Given the description of an element on the screen output the (x, y) to click on. 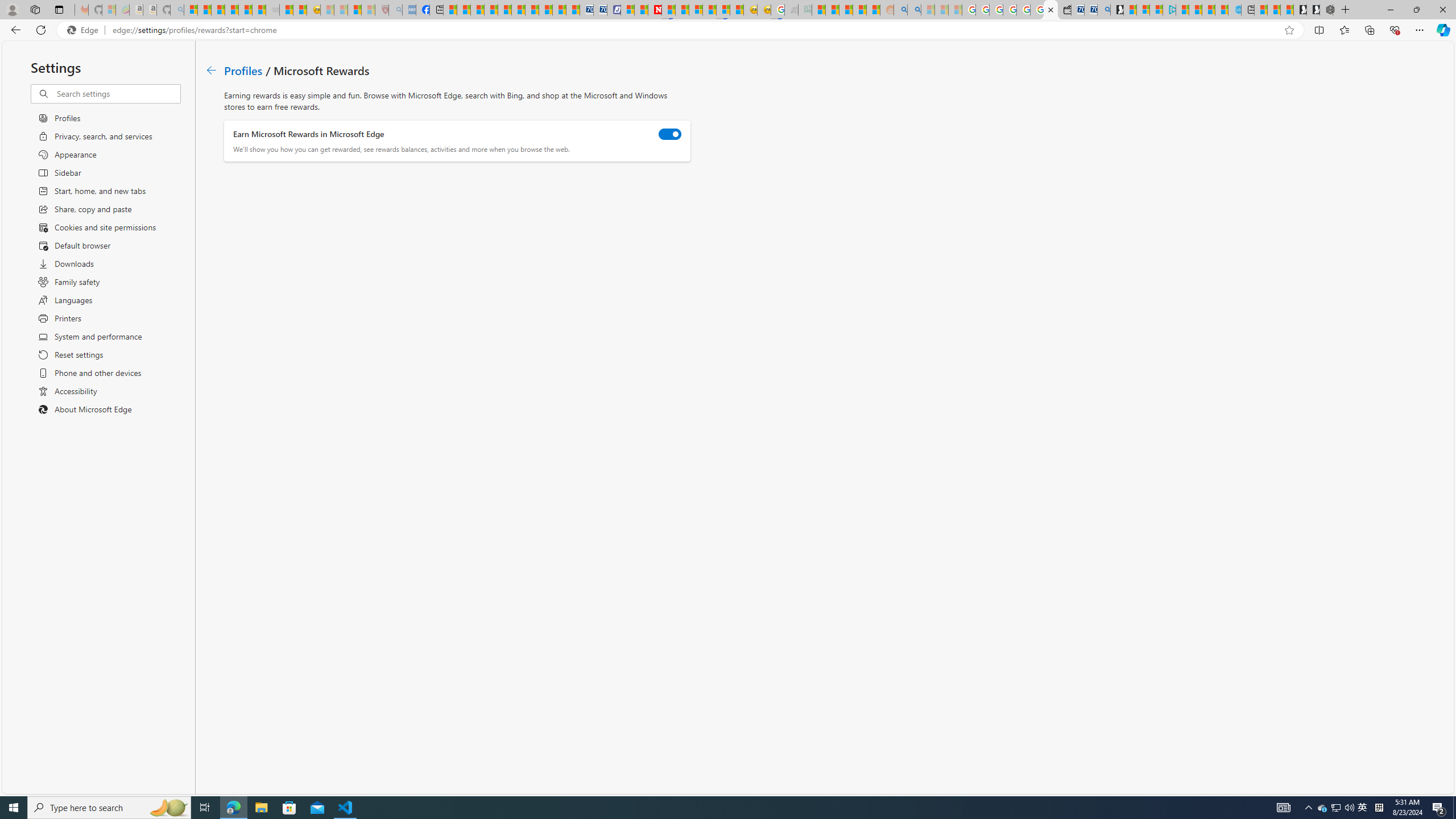
Profiles (243, 69)
12 Popular Science Lies that Must be Corrected - Sleeping (368, 9)
Earn Microsoft Rewards in Microsoft Edge (669, 134)
